Given the description of an element on the screen output the (x, y) to click on. 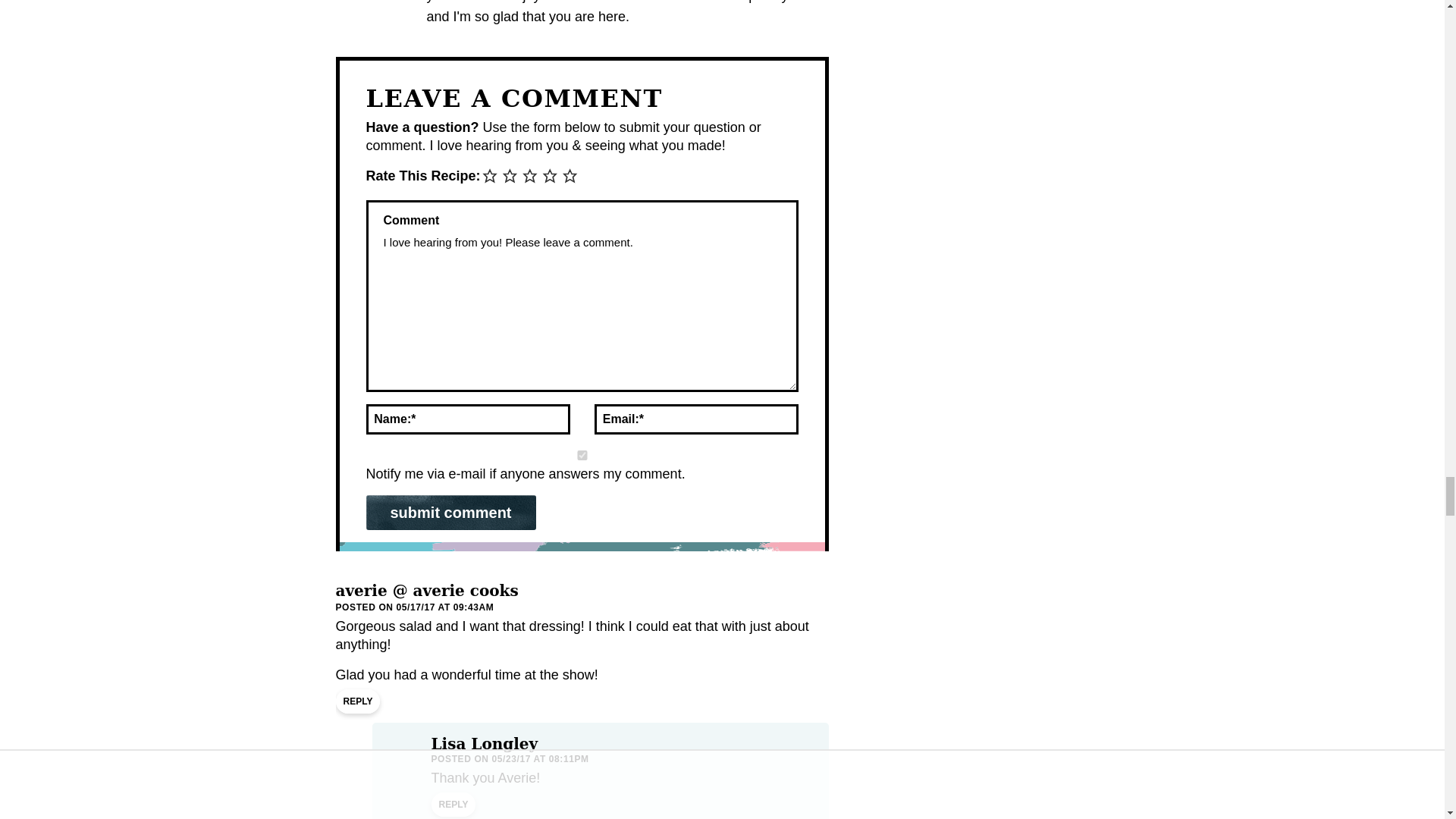
submit comment (450, 512)
on (581, 455)
